Given the description of an element on the screen output the (x, y) to click on. 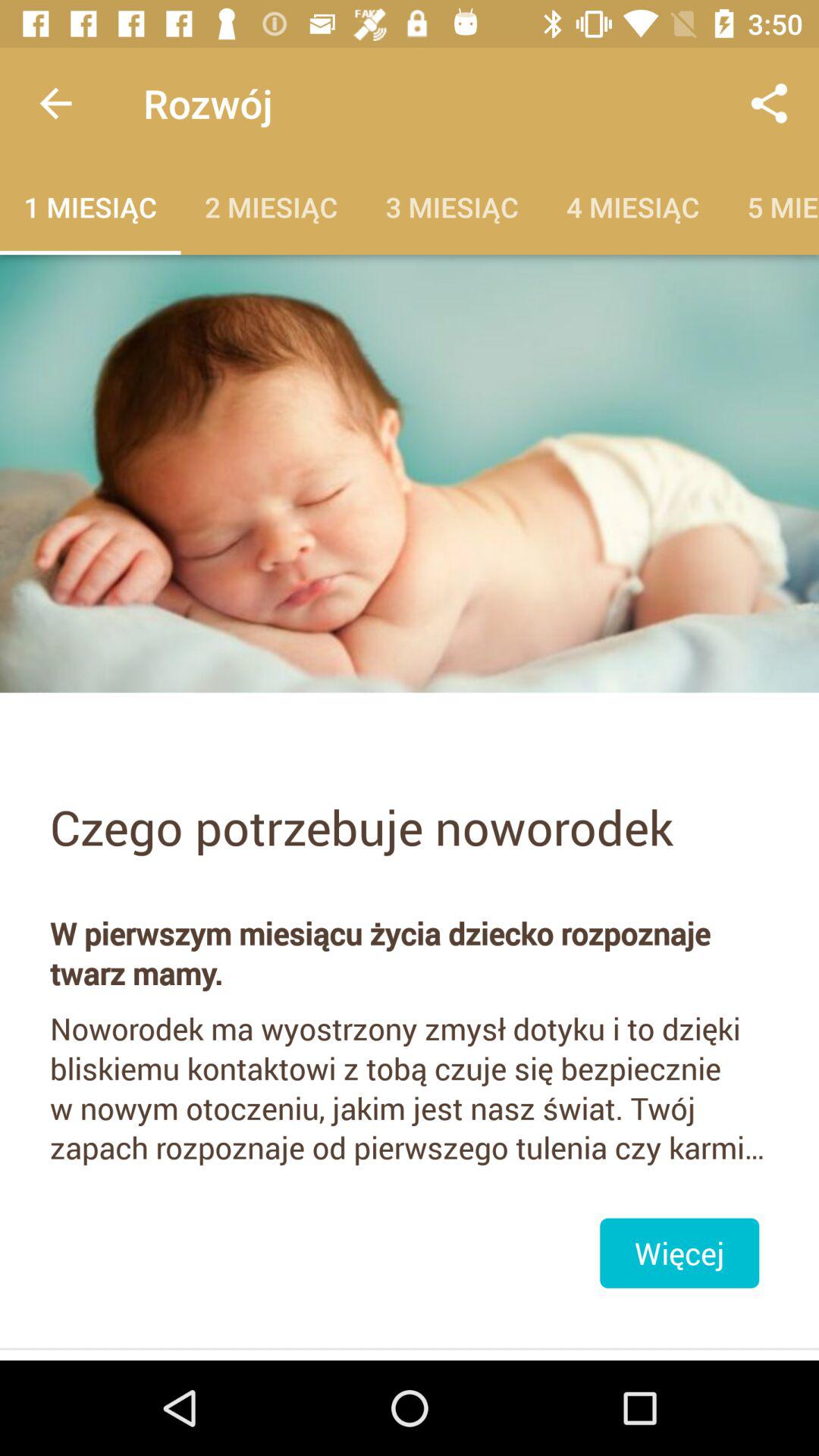
click noworodek ma wyostrzony (409, 1087)
